Given the description of an element on the screen output the (x, y) to click on. 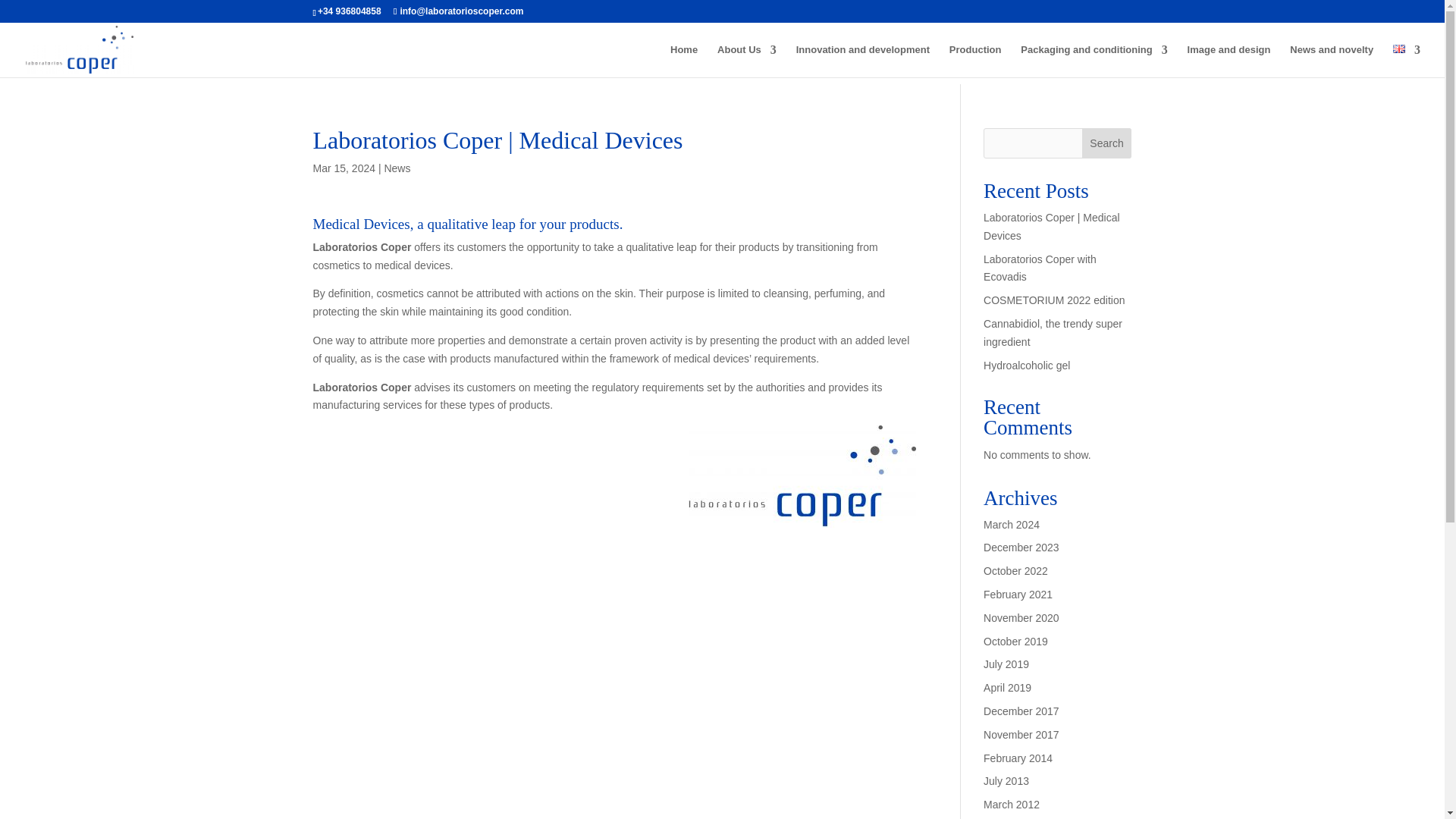
February 2021 (1018, 594)
Home (683, 60)
Hydroalcoholic gel (1027, 365)
February 2014 (1018, 758)
Innovation and development (863, 60)
COSMETORIUM 2022 edition (1054, 300)
News and novelty (1331, 60)
Laboratorios Coper with Ecovadis (1040, 268)
Production (975, 60)
November 2020 (1021, 617)
Search (1106, 142)
December 2023 (1021, 547)
Packaging and conditioning (1093, 60)
Image and design (1229, 60)
July 2019 (1006, 664)
